Given the description of an element on the screen output the (x, y) to click on. 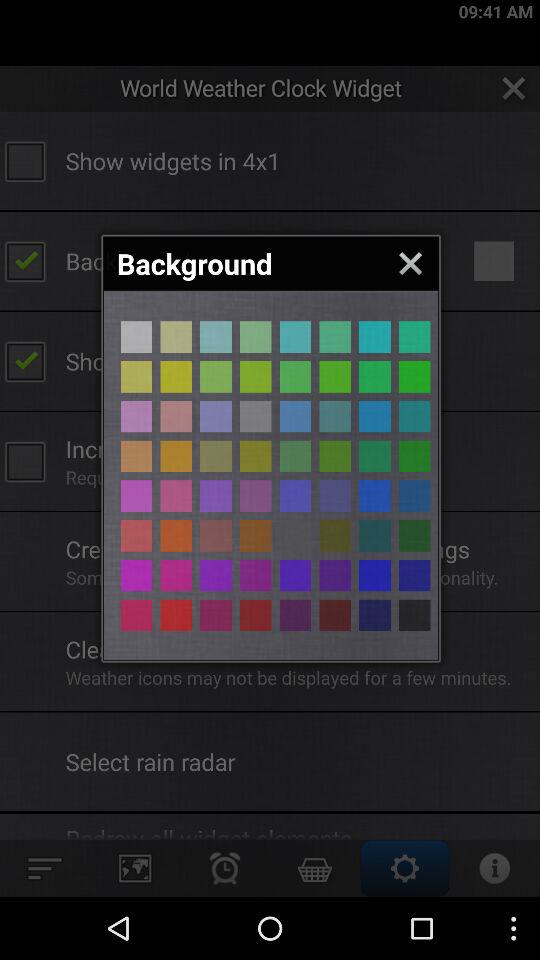
select option (176, 376)
